Given the description of an element on the screen output the (x, y) to click on. 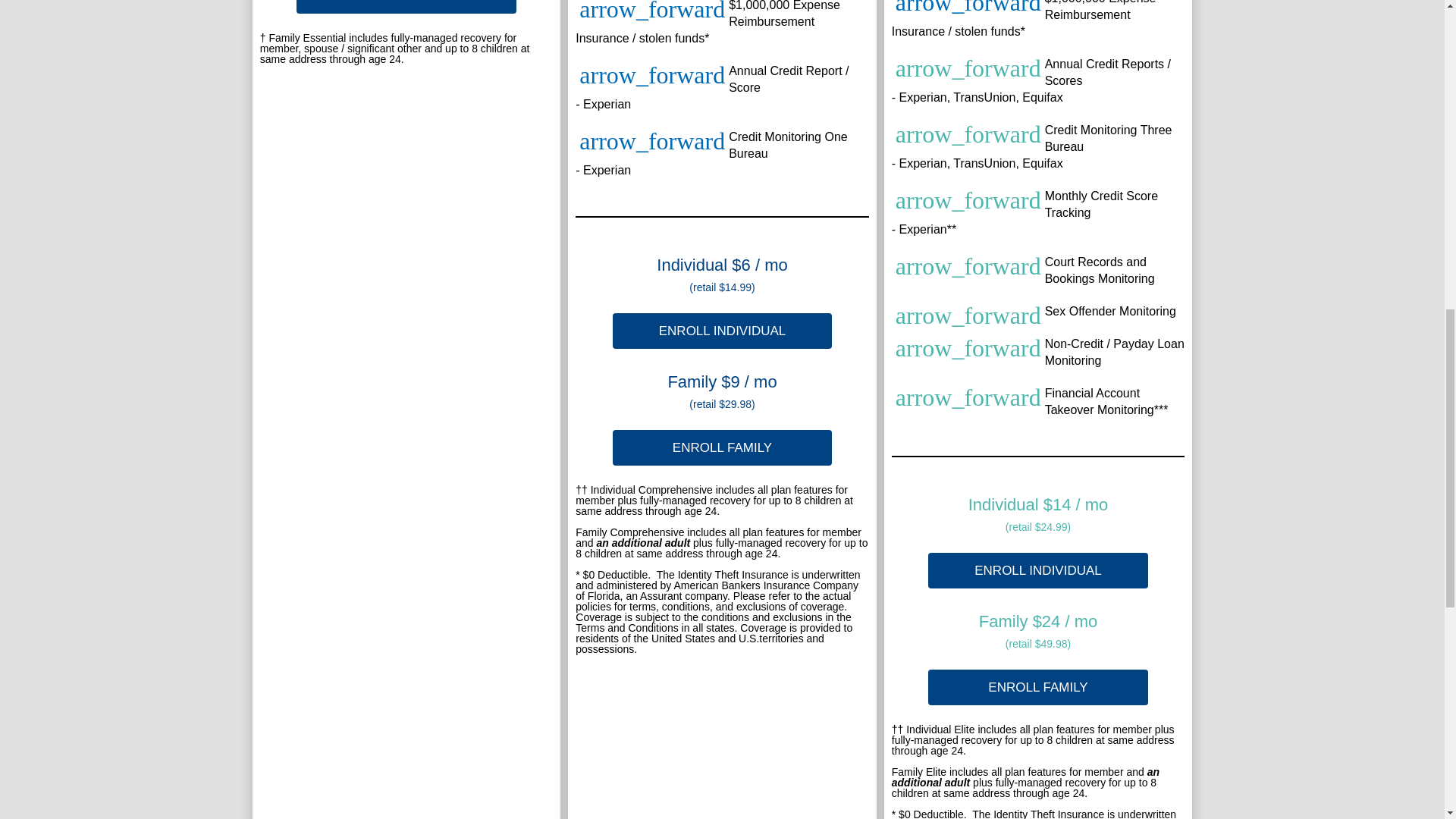
ENROLL FAMILY (406, 6)
ENROLL FAMILY (722, 447)
ENROLL INDIVIDUAL (722, 330)
ENROLL FAMILY (1038, 687)
ENROLL INDIVIDUAL (1038, 570)
